Given the description of an element on the screen output the (x, y) to click on. 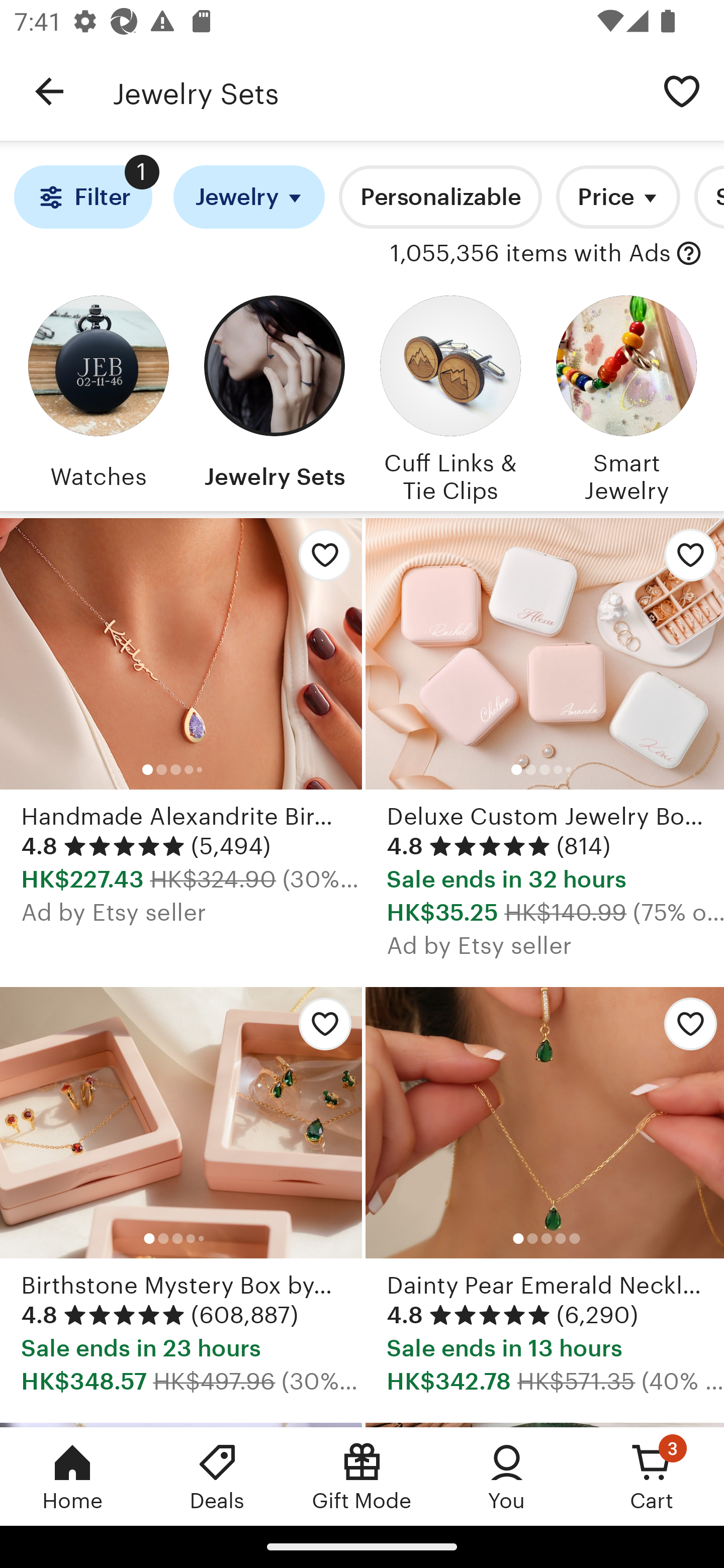
Navigate up (49, 91)
Save search (681, 90)
Jewelry Sets (375, 91)
Filter (82, 197)
Jewelry (249, 197)
Personalizable (440, 197)
Price (618, 197)
1,055,356 items with Ads (530, 253)
with Ads (688, 253)
Watches (97, 395)
Jewelry Sets (273, 395)
Cuff Links & Tie Clips (449, 395)
Smart Jewelry (625, 395)
Deals (216, 1475)
Gift Mode (361, 1475)
You (506, 1475)
Cart, 3 new notifications Cart (651, 1475)
